Given the description of an element on the screen output the (x, y) to click on. 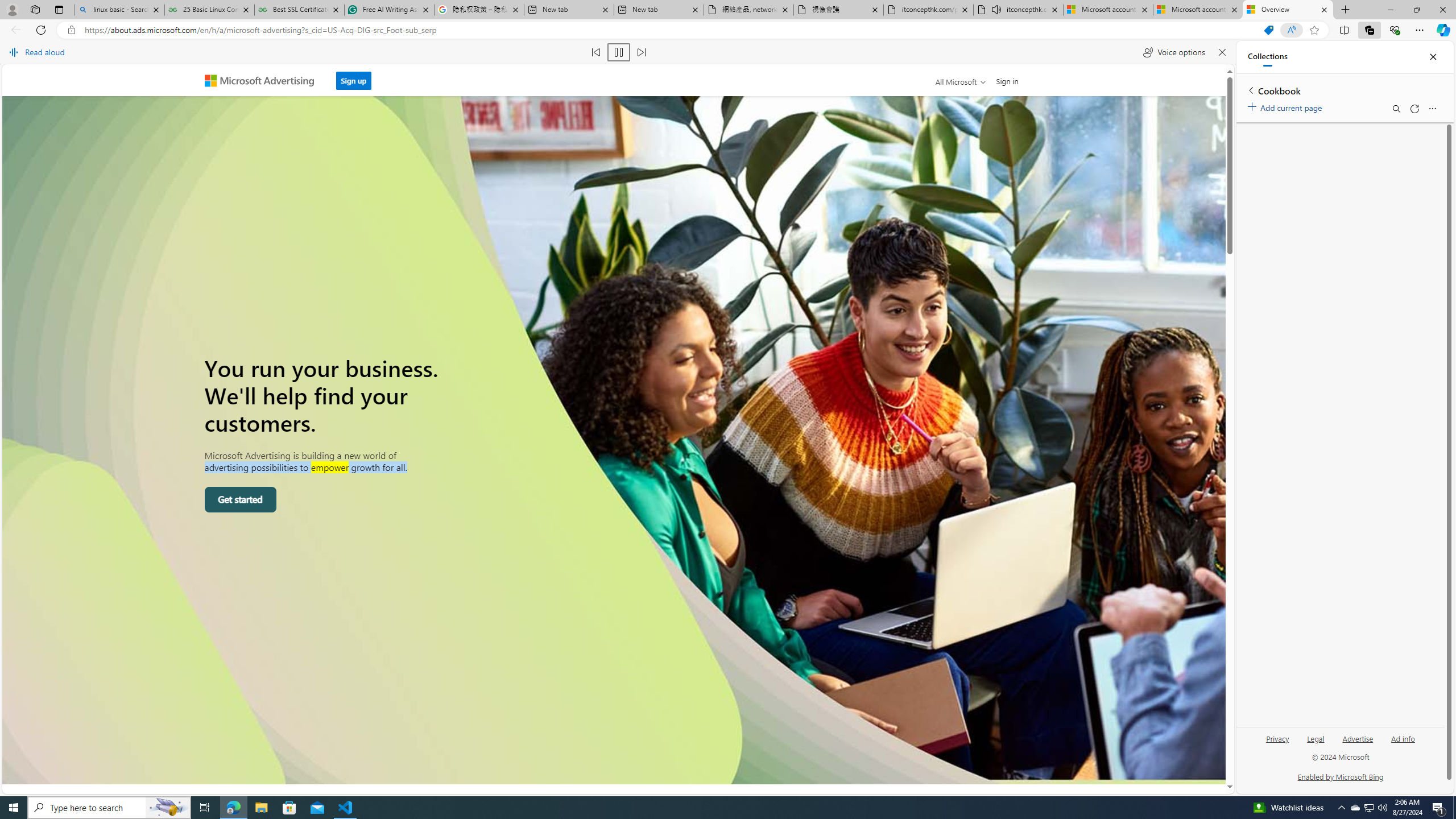
Sign up (352, 81)
Back to list of collections (1250, 90)
Microsoft Advertising (263, 79)
Mute tab (996, 8)
